Given the description of an element on the screen output the (x, y) to click on. 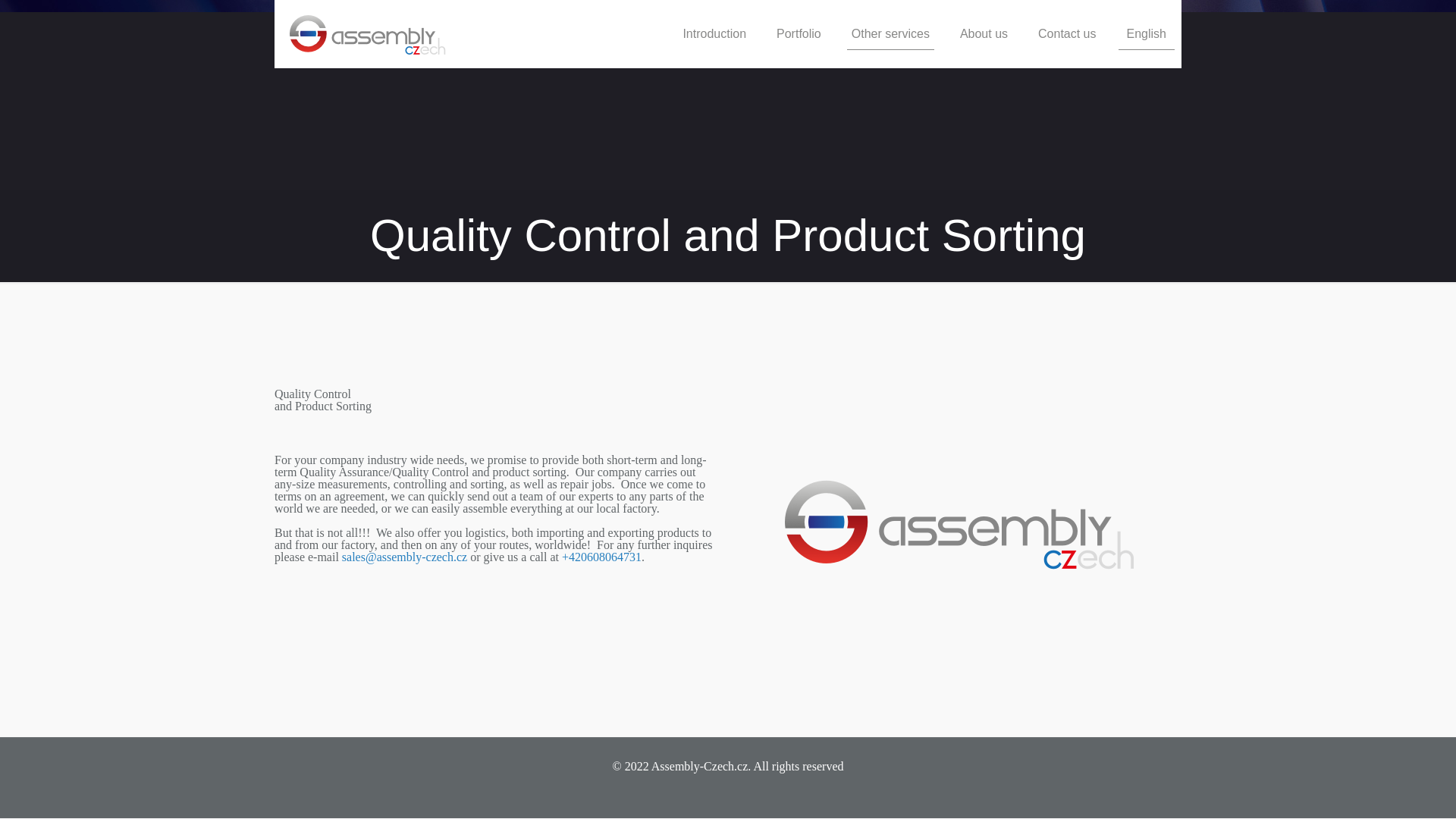
Assembly-Czech.cz (367, 33)
English (1146, 33)
Introduction (713, 33)
Other services (889, 33)
About us (983, 33)
Contact us (1066, 33)
Portfolio (798, 33)
